Given the description of an element on the screen output the (x, y) to click on. 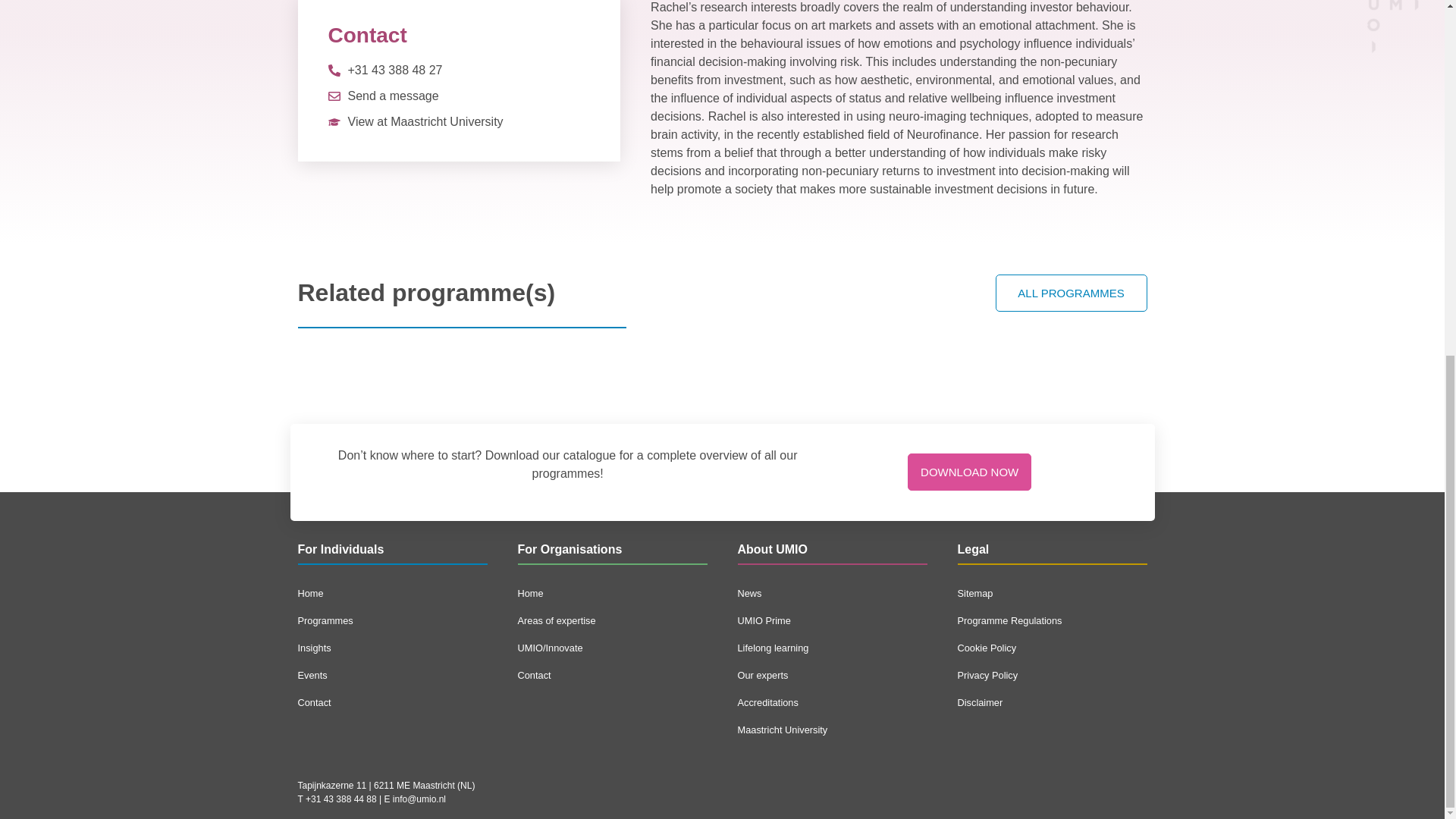
Insights (391, 647)
View at Maastricht University (414, 122)
Programmes (391, 620)
ALL PROGRAMMES (1070, 293)
Contact (611, 675)
DOWNLOAD NOW (968, 471)
Events (391, 675)
Areas of expertise (611, 620)
Home (391, 593)
Home (611, 593)
